Given the description of an element on the screen output the (x, y) to click on. 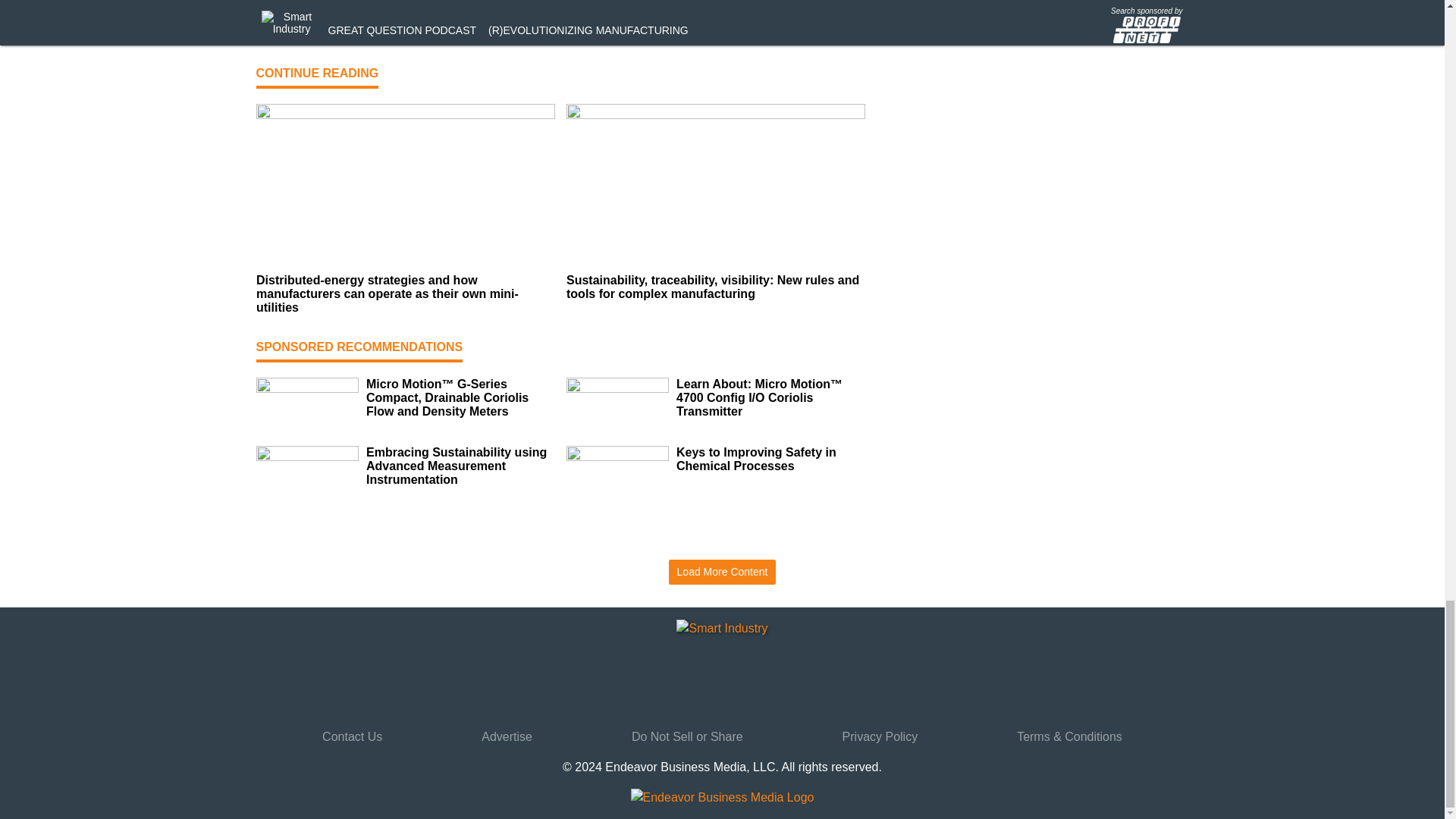
Keys to Improving Safety in Chemical Processes (770, 459)
